Given the description of an element on the screen output the (x, y) to click on. 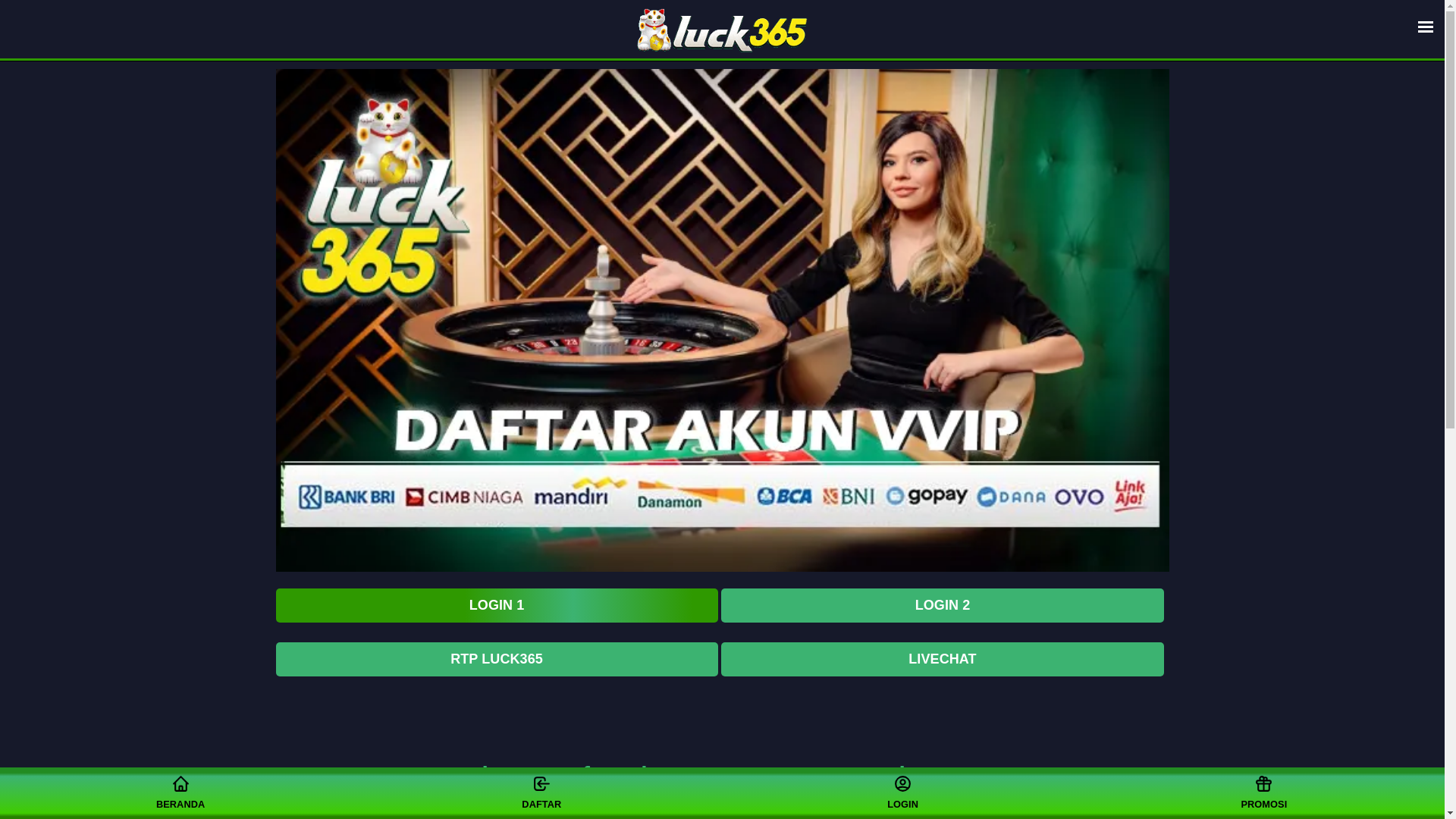
LIVECHAT (941, 659)
PROMOSI (1262, 792)
LOGIN 2 (941, 605)
Promotion (903, 792)
Live Chat Luck365 (1262, 792)
DAFTAR (541, 792)
RTP LUCK365 (496, 659)
LOGIN (903, 792)
BERANDA (180, 792)
LOGIN 1 (496, 605)
